Given the description of an element on the screen output the (x, y) to click on. 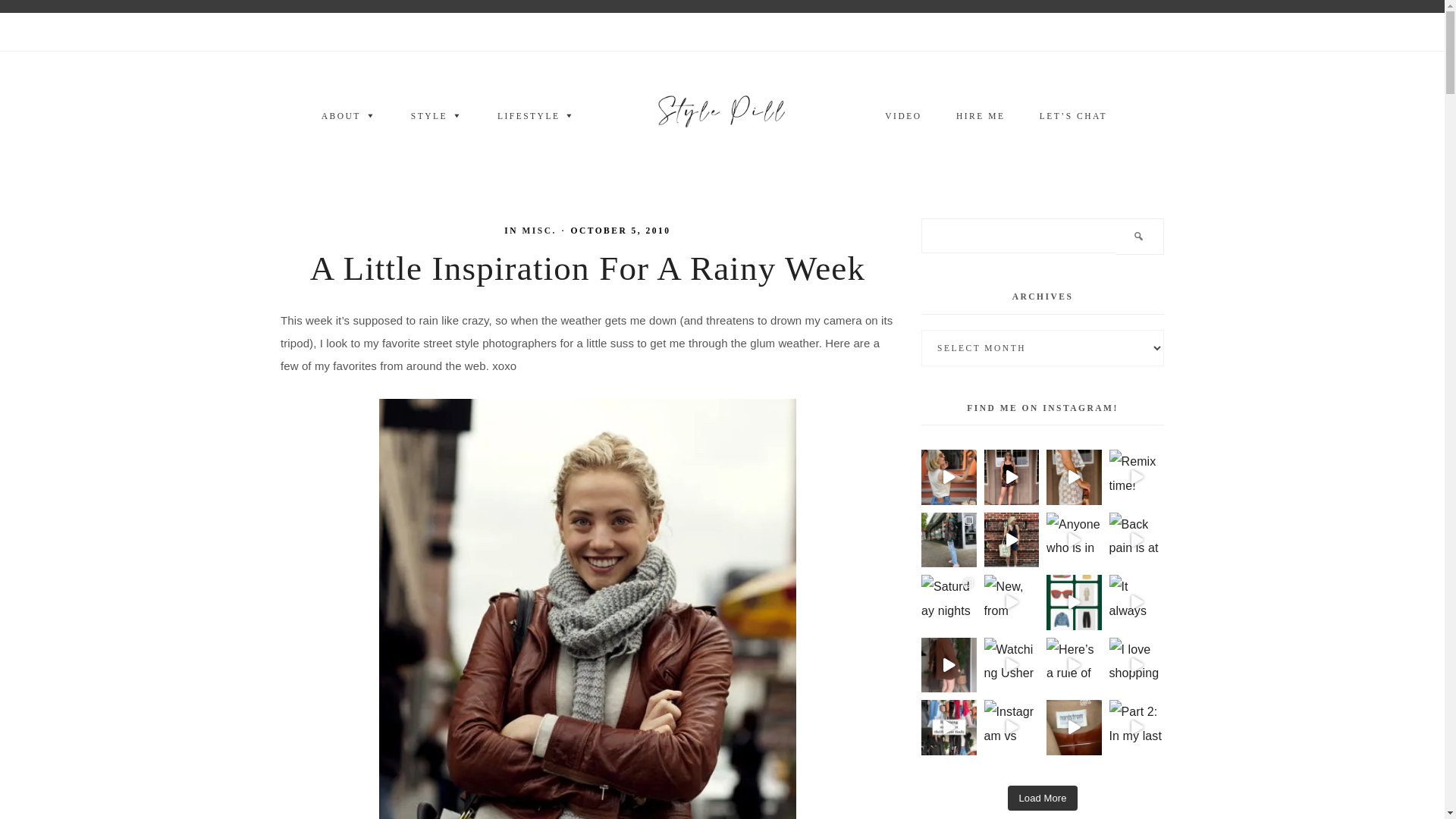
VIDEO (902, 116)
A Little Inspiration For A Rainy Week (587, 268)
STYLE (437, 116)
LIFESTYLE (536, 116)
MISC. (539, 230)
HIRE ME (980, 116)
My Style Pill (722, 115)
ABOUT (348, 116)
